Given the description of an element on the screen output the (x, y) to click on. 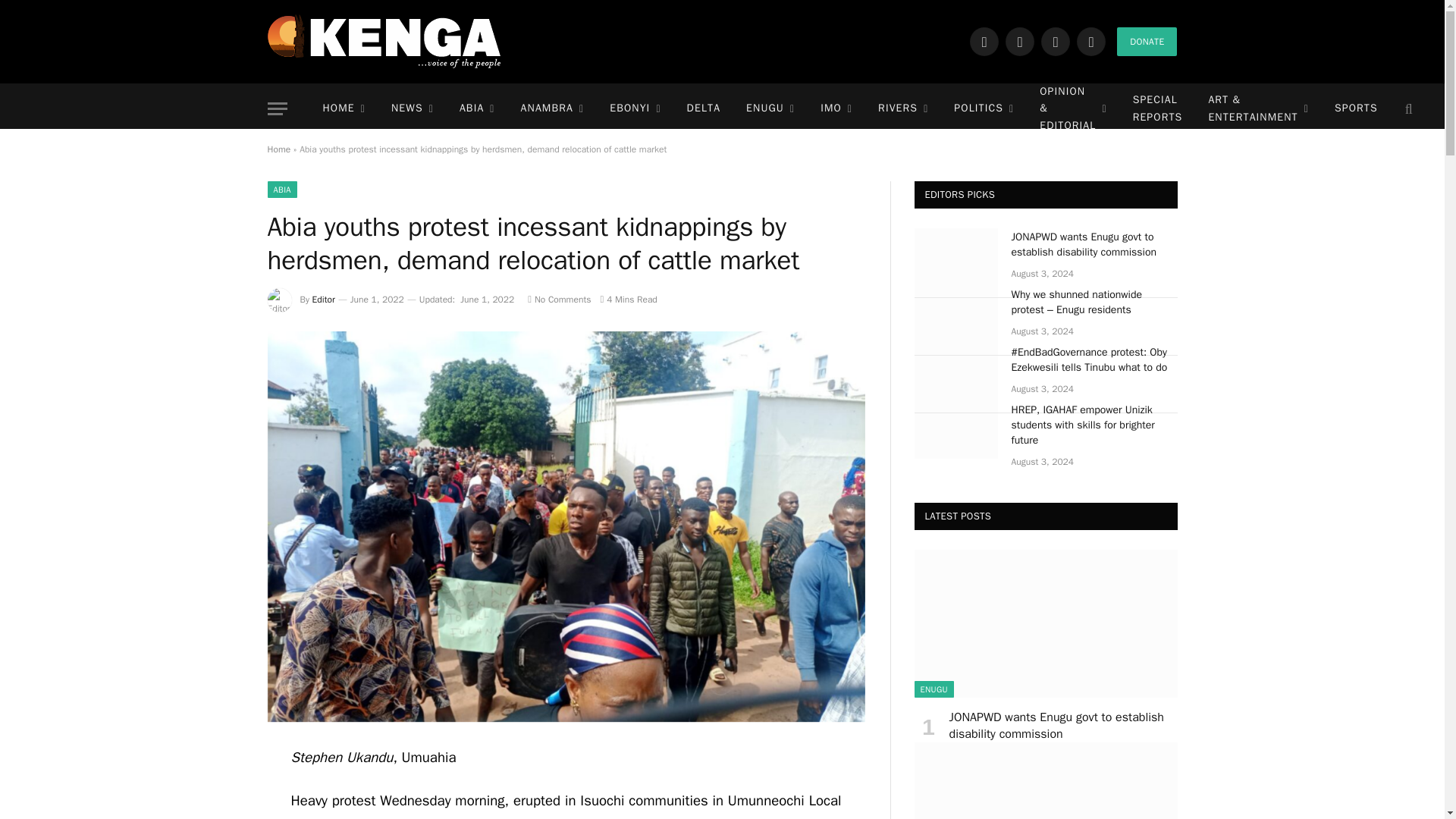
DONATE (1146, 41)
YouTube (1091, 41)
HOME (342, 108)
Facebook (983, 41)
NEWS (412, 108)
Instagram (1055, 41)
Twitter (1019, 41)
Ikenga Online (383, 41)
